Given the description of an element on the screen output the (x, y) to click on. 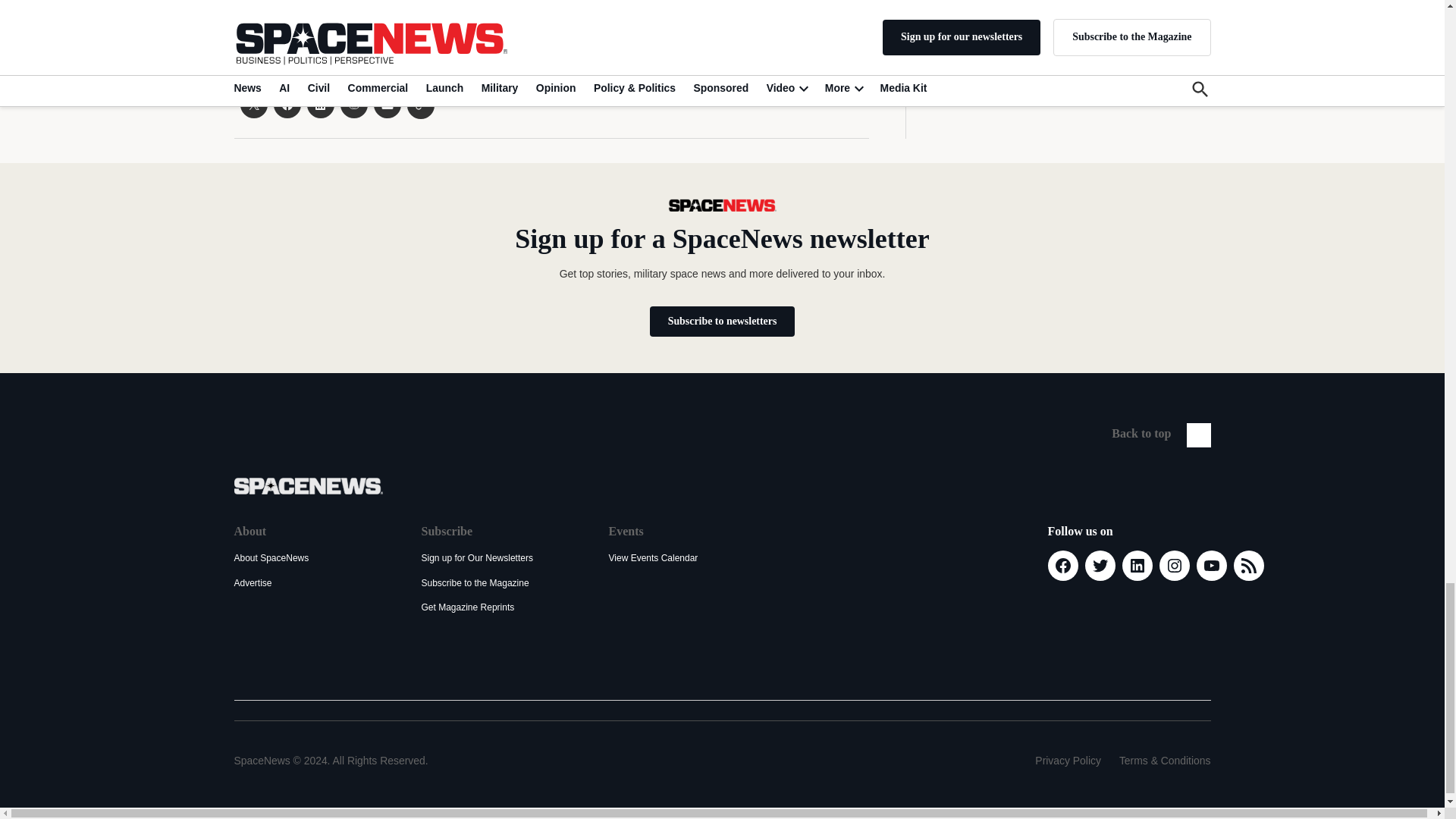
Click to share on X (253, 103)
Click to email a link to a friend (386, 103)
Click to share on Reddit (352, 103)
Click to share on LinkedIn (319, 103)
Click to share on Clipboard (419, 104)
Click to share on Facebook (286, 103)
